Given the description of an element on the screen output the (x, y) to click on. 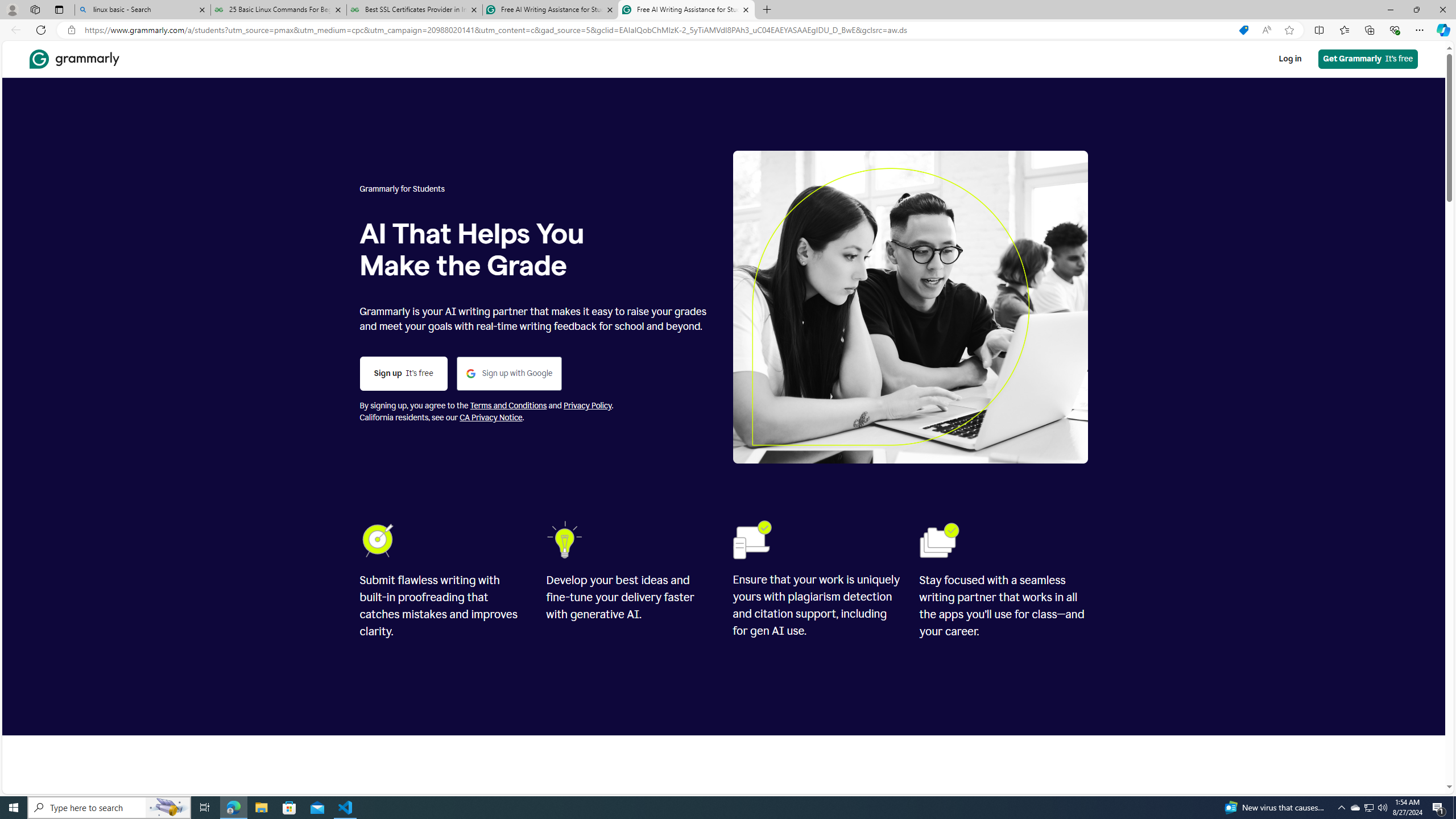
Target with arrow (379, 540)
Grammarly Home (74, 58)
linux basic - Search (142, 9)
CA Privacy Notice (491, 417)
Free AI Writing Assistance for Students | Grammarly (685, 9)
Laptop graphic with green check mark (751, 539)
